Given the description of an element on the screen output the (x, y) to click on. 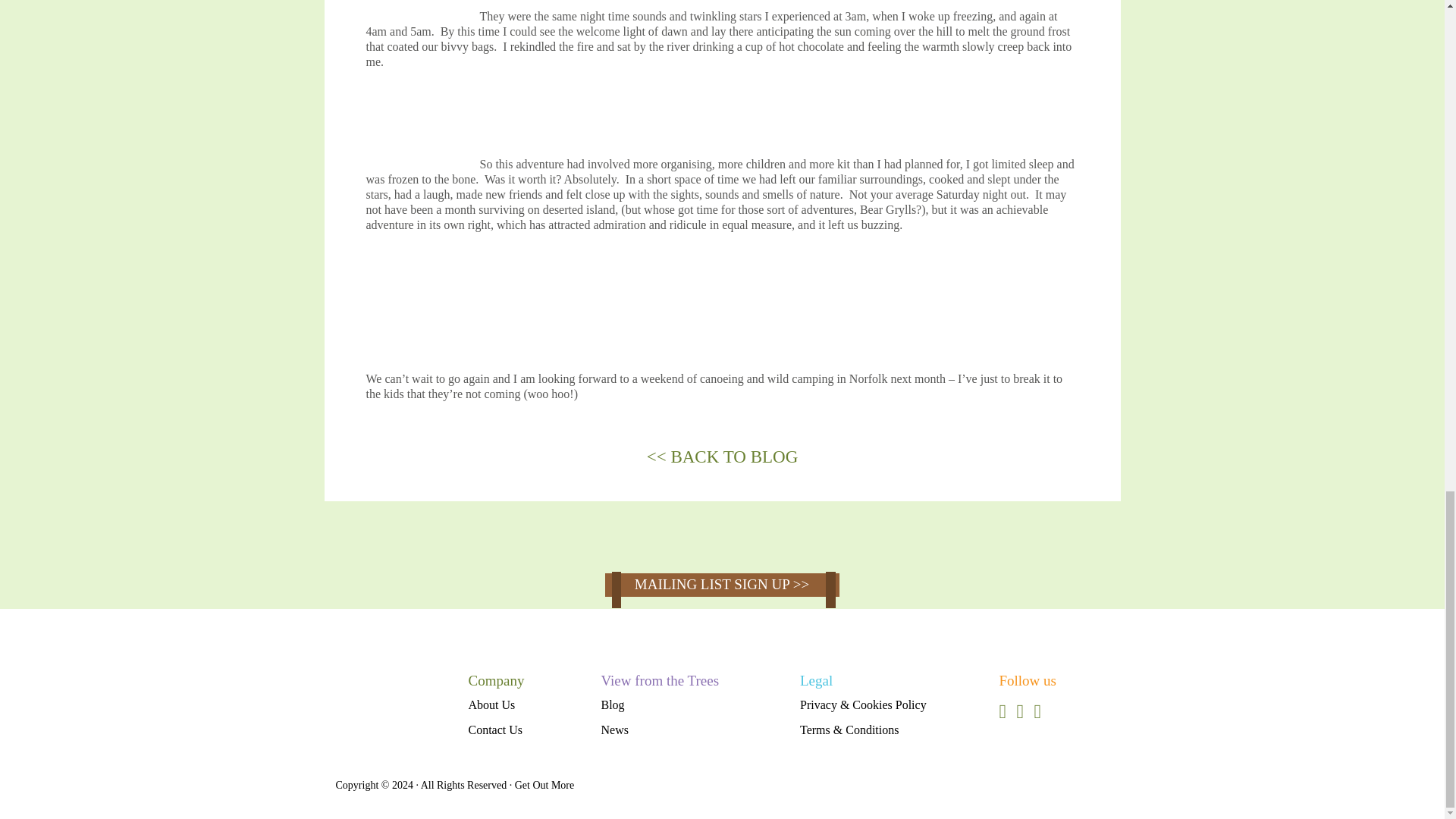
News (613, 726)
About Us (491, 701)
Contact Us (495, 726)
Blog (611, 701)
